Given the description of an element on the screen output the (x, y) to click on. 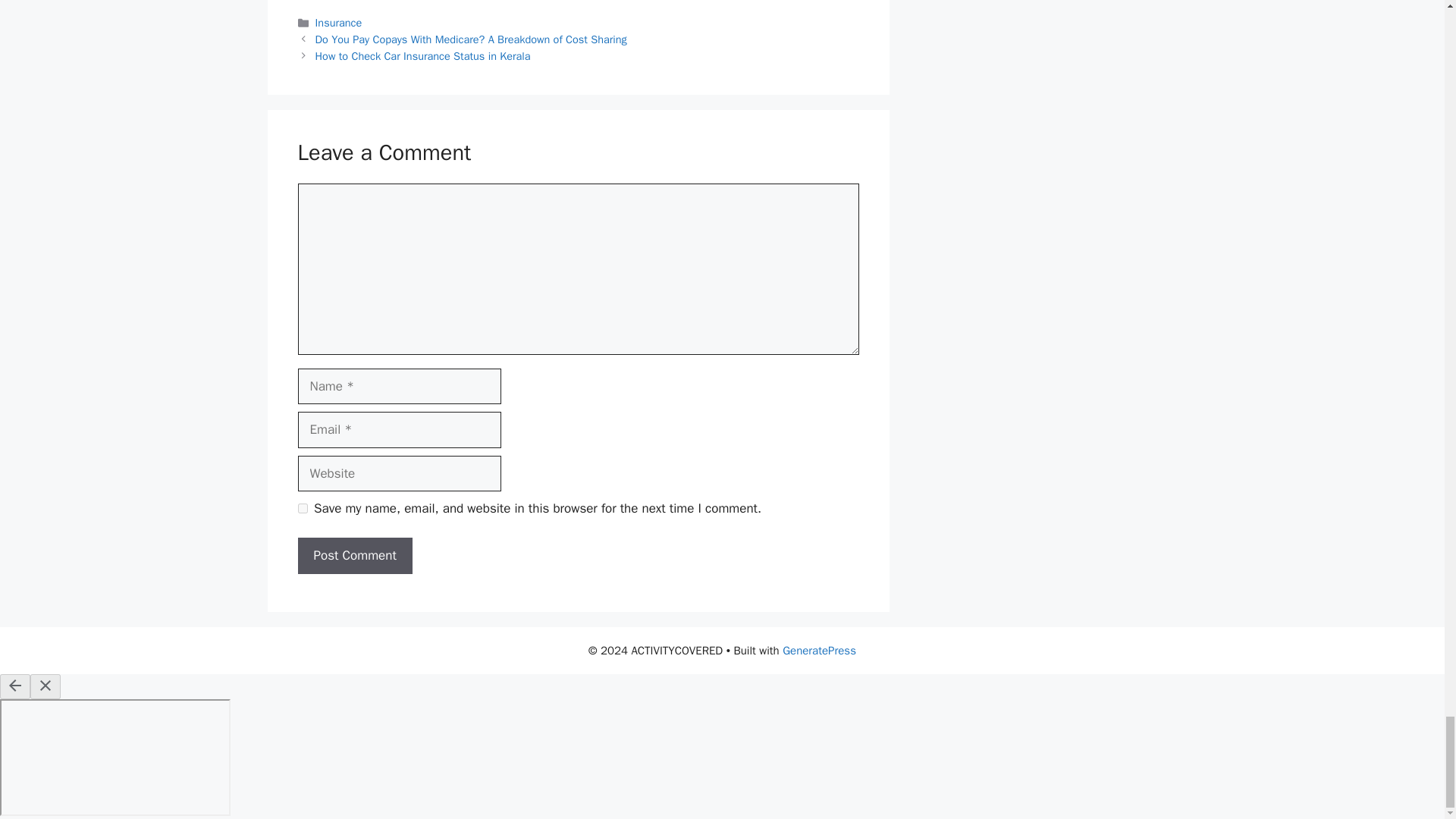
Next (423, 56)
Previous (471, 38)
How to Check Car Insurance Status in Kerala (423, 56)
Post Comment (354, 555)
yes (302, 508)
Post Comment (354, 555)
Do You Pay Copays With Medicare? A Breakdown of Cost Sharing (471, 38)
Insurance (338, 22)
